Given the description of an element on the screen output the (x, y) to click on. 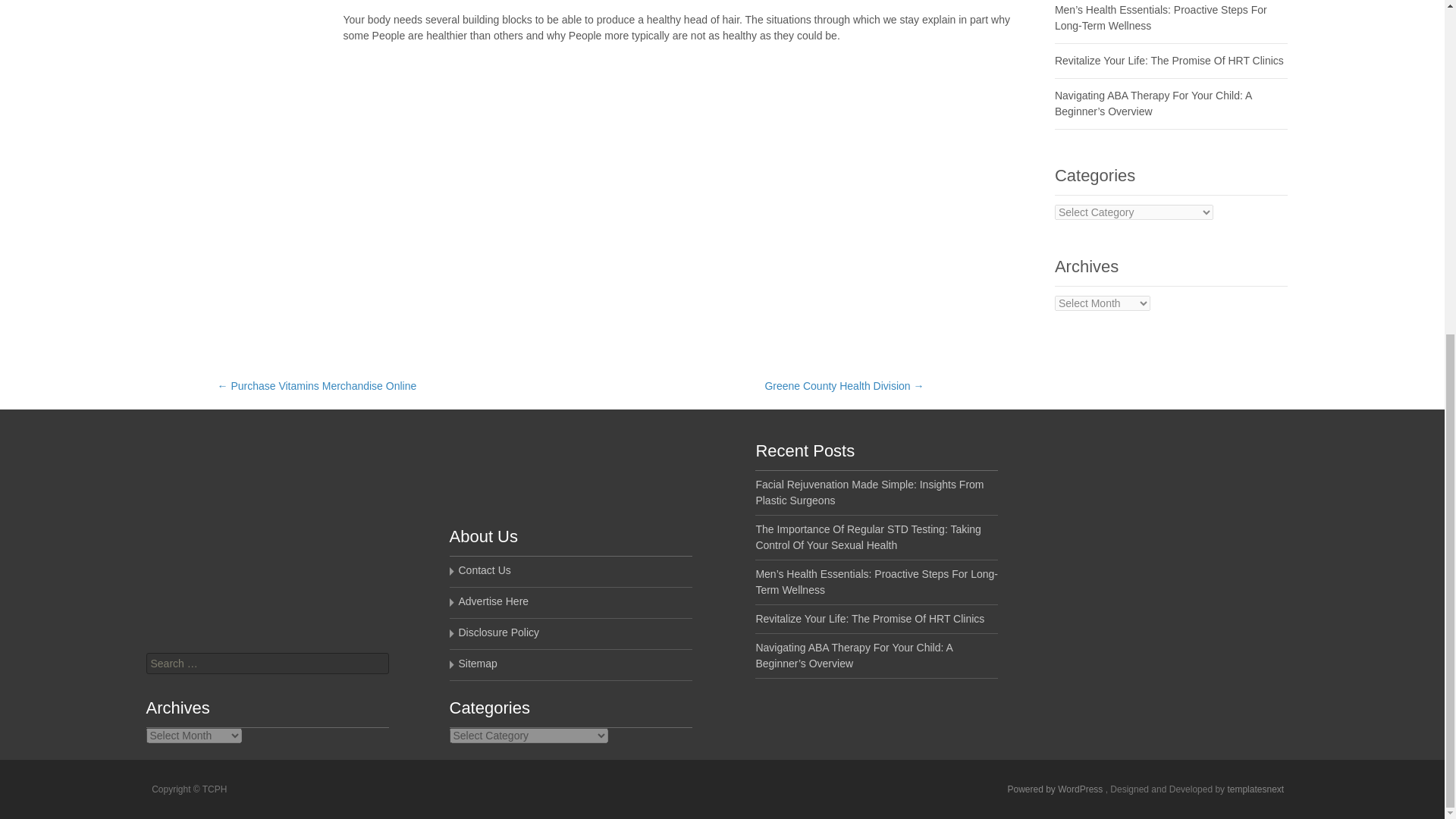
Semantic Personal Publishing Platform (1056, 788)
